Given the description of an element on the screen output the (x, y) to click on. 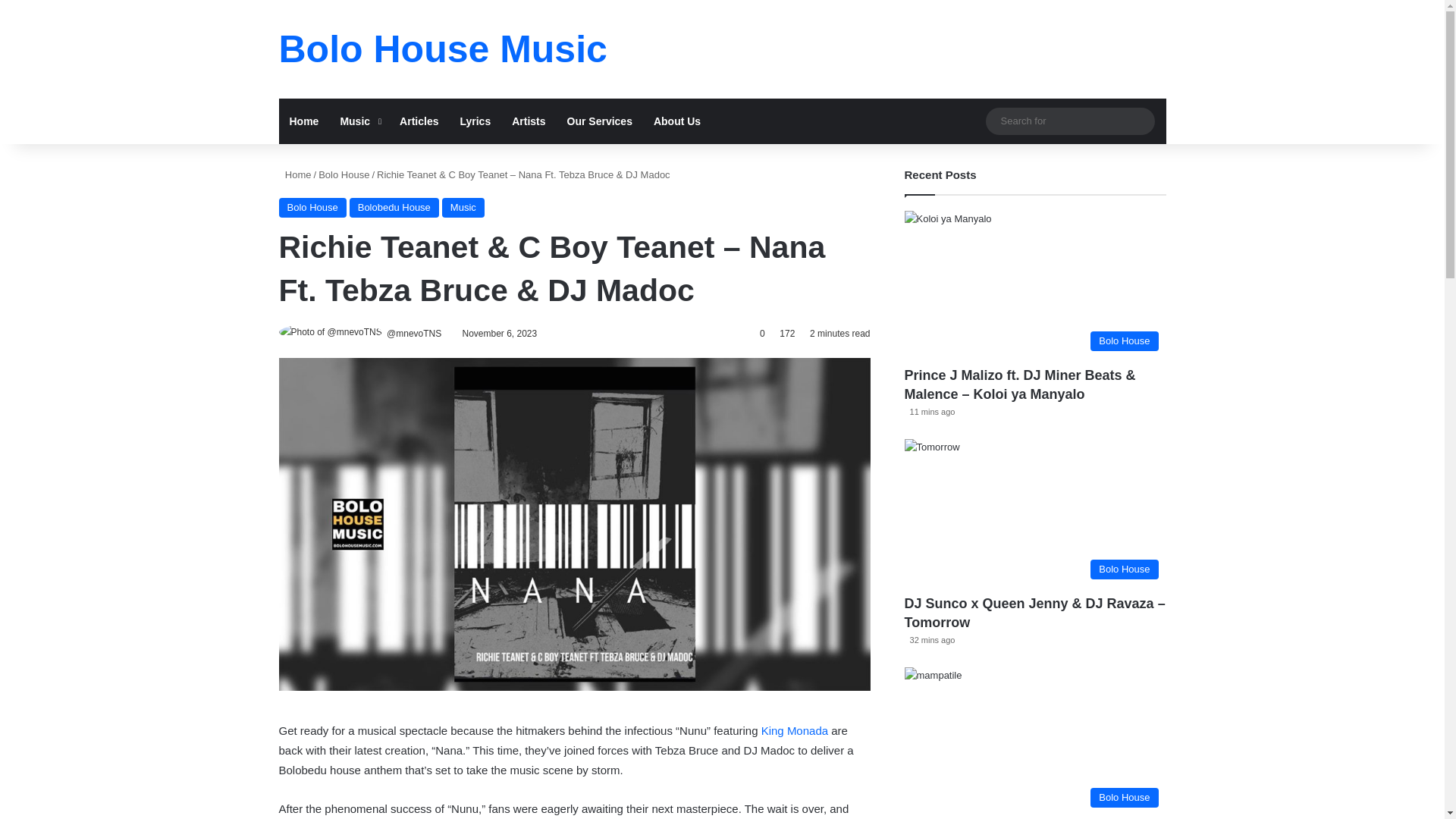
Articles (418, 121)
Music (358, 121)
Search for (1069, 120)
Music (463, 207)
Bolo House Music (443, 48)
Search for (1139, 121)
About Us (677, 121)
Home (304, 121)
Lyrics (474, 121)
Bolo House (343, 174)
